Given the description of an element on the screen output the (x, y) to click on. 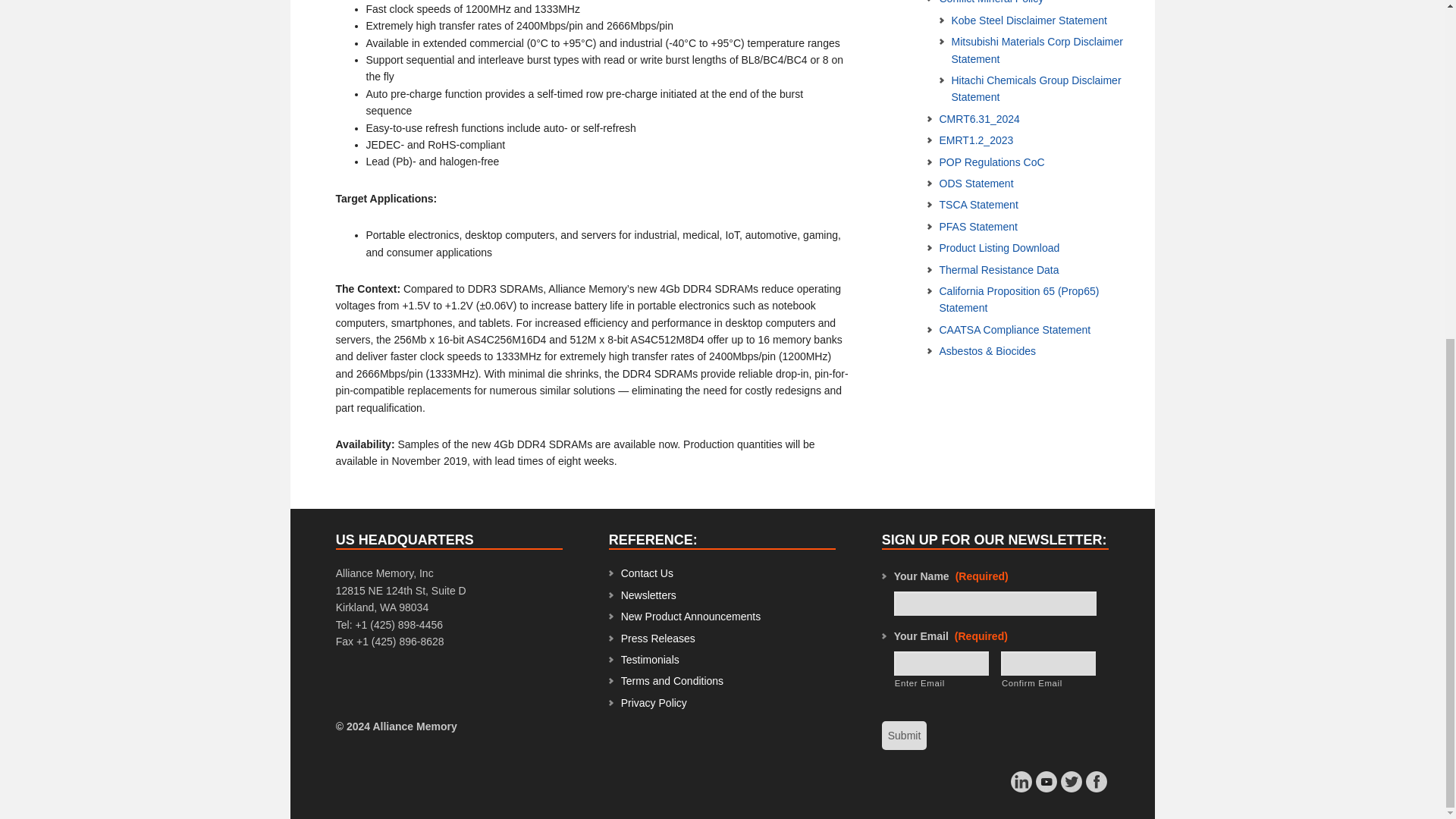
Visit Us On Twitter (1070, 787)
Visit Us On Youtube (1045, 787)
Visit Us On Linkedin (1021, 787)
Visit Us On Facebook (1095, 787)
Submit (904, 735)
